Given the description of an element on the screen output the (x, y) to click on. 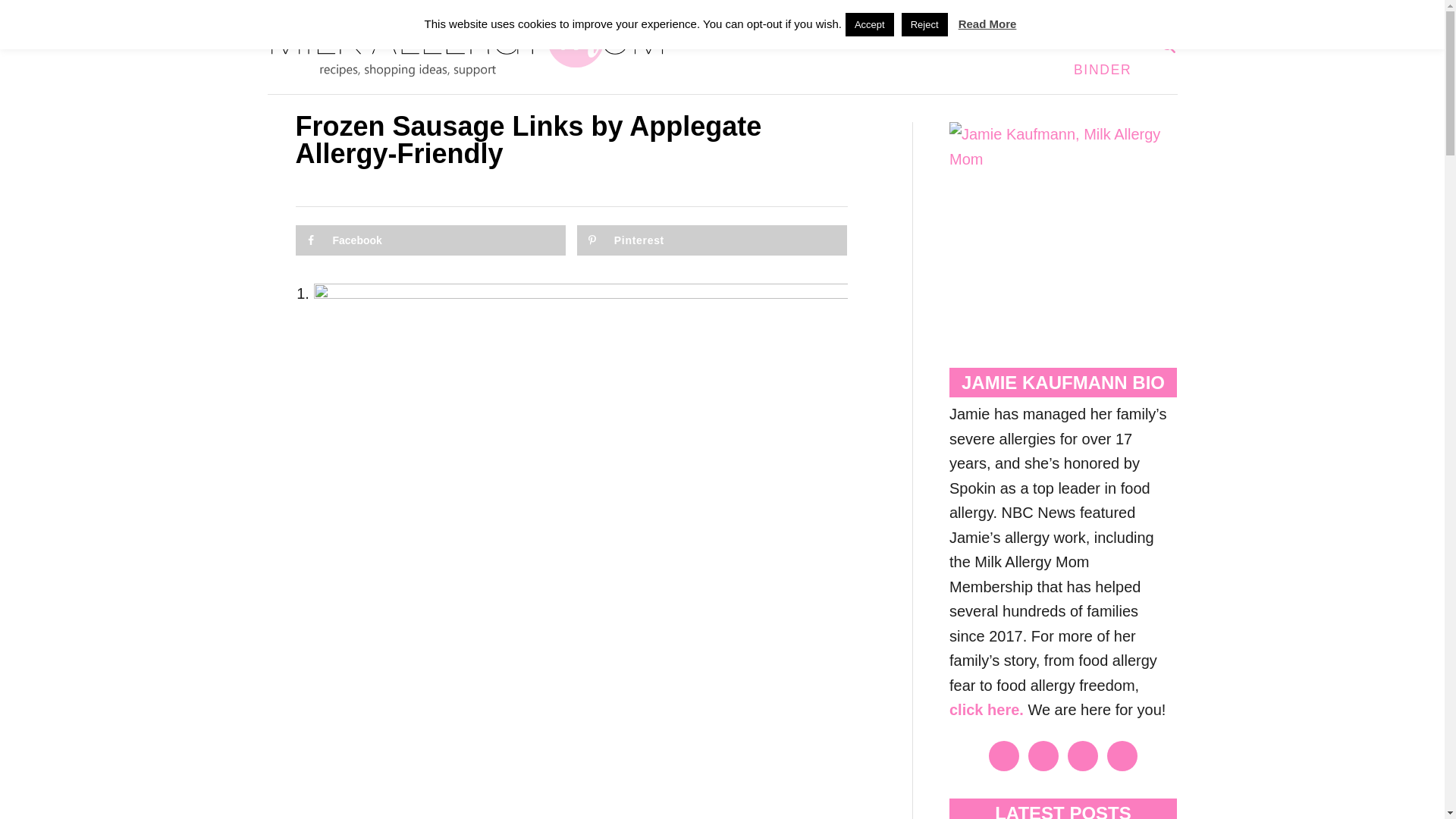
BLOG (842, 22)
MEMBERSHIP (1080, 22)
SHOP (989, 22)
HOME (781, 22)
Milk Allergy Mom (475, 47)
Facebook (430, 240)
Share on Facebook (430, 240)
BINDER (1102, 70)
Save to Pinterest (711, 240)
RECIPES (1167, 46)
MAGNIFYING GLASS (916, 22)
